Given the description of an element on the screen output the (x, y) to click on. 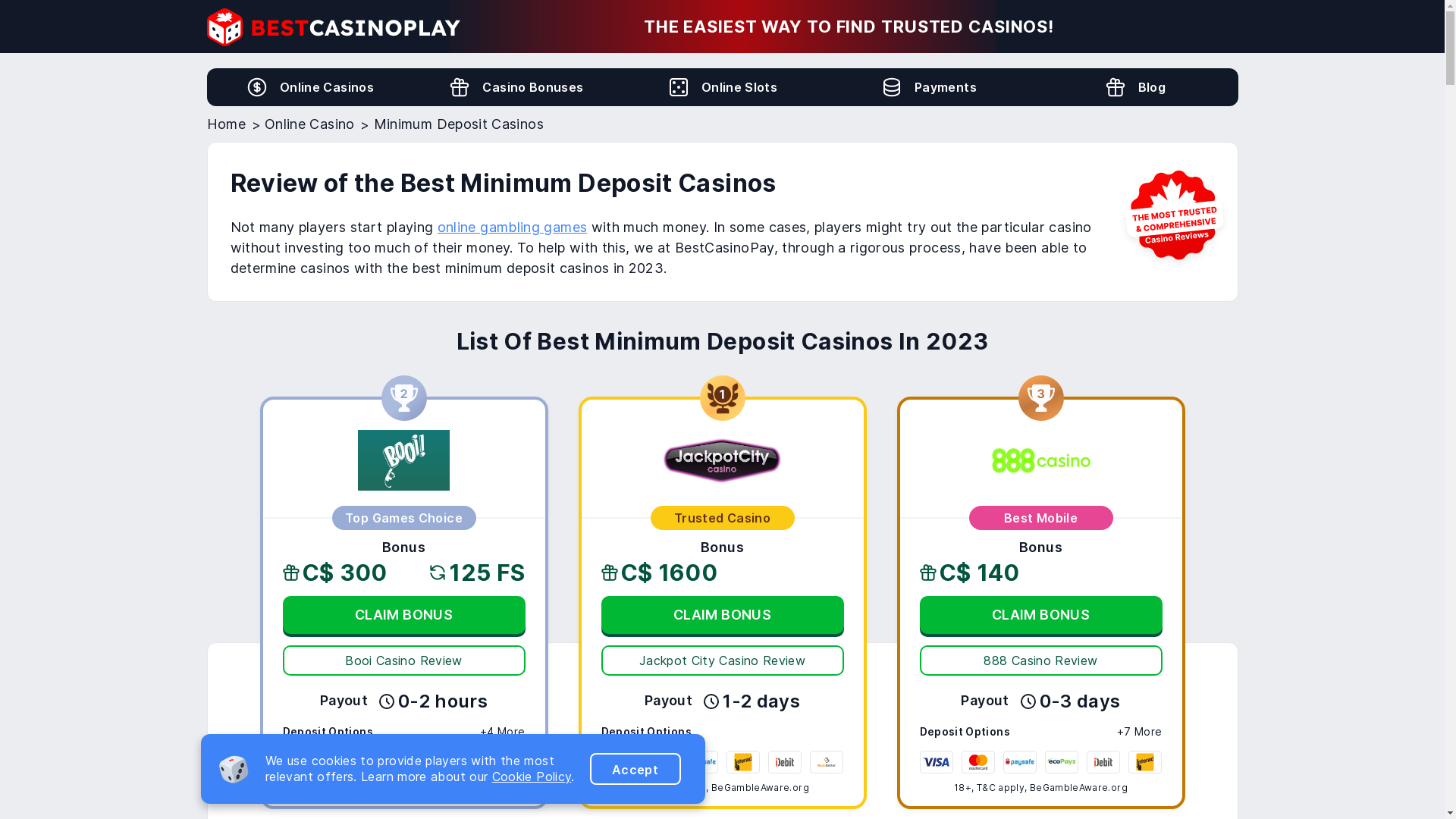
888 Casino Review Element type: hover (1040, 459)
MasterCard Element type: hover (978, 761)
CLAIM BONUS Element type: text (721, 614)
ecoPayz Element type: hover (1061, 761)
Accept Element type: text (634, 768)
CLAIM BONUS Element type: text (403, 614)
Blog Element type: hover (1115, 86)
Booi Casino Review Element type: hover (403, 459)
Cookie Policy Element type: text (531, 776)
Online Slots Element type: text (721, 87)
Visa Card Element type: hover (299, 761)
Jackpot City Casino Review Element type: text (721, 660)
Payments Element type: hover (891, 86)
Skrill Element type: hover (466, 761)
MasterCard Element type: hover (659, 761)
Online Casino Element type: text (309, 123)
site-logo Element type: hover (332, 26)
Booi Casino Review Element type: text (403, 660)
iDebit Element type: hover (784, 761)
Casino Bonuses Element type: text (515, 87)
888 Casino Review Element type: hover (1040, 462)
Payments Element type: text (928, 87)
Blog Element type: text (1134, 87)
Online Casinos Element type: text (309, 87)
MasterCard Element type: hover (341, 761)
AstroPay Element type: hover (424, 761)
Jackpot City Casino Review Element type: hover (721, 462)
online gambling games Element type: text (512, 227)
iDebit Element type: hover (1103, 761)
MuchBetter Element type: hover (826, 761)
CLAIM BONUS Element type: text (1040, 614)
Paysafe card Element type: hover (1019, 761)
Visa Card Element type: hover (936, 761)
Interac Element type: hover (1145, 761)
logo Element type: hover (332, 26)
Neosurf Element type: hover (508, 761)
Jackpot City Casino Review Element type: hover (721, 459)
Booi Casino Review Element type: hover (403, 462)
ecoPayz Element type: hover (382, 761)
Casino Bonuses Element type: hover (459, 86)
Interac Element type: hover (743, 761)
Paysafe card Element type: hover (701, 761)
888 Casino Review Element type: text (1040, 660)
Online Casinos Element type: hover (256, 86)
Home Element type: text (225, 123)
Visa Card Element type: hover (617, 761)
Online Slots Element type: hover (678, 86)
